Given the description of an element on the screen output the (x, y) to click on. 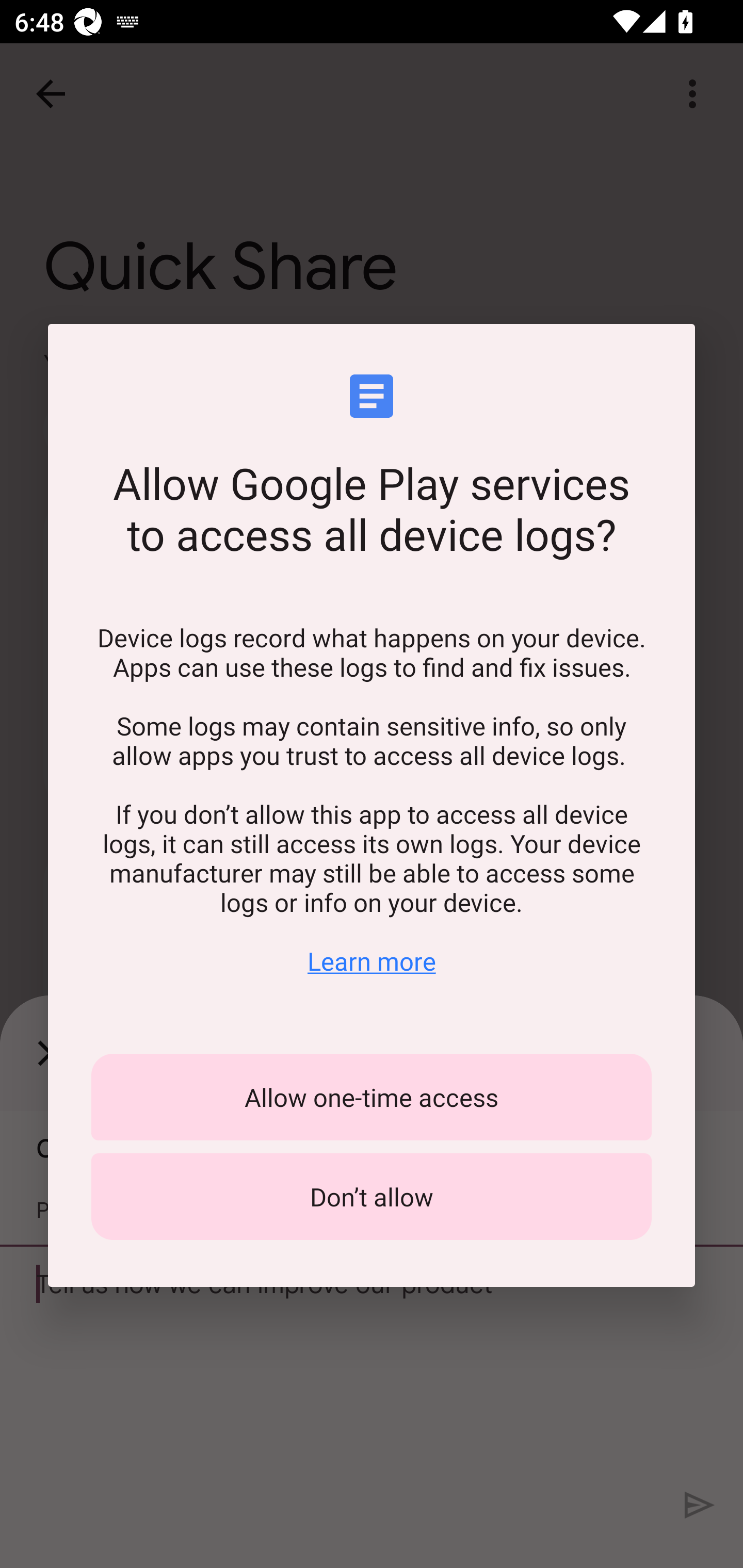
Allow one-time access (371, 1096)
Don’t allow (371, 1197)
